Given the description of an element on the screen output the (x, y) to click on. 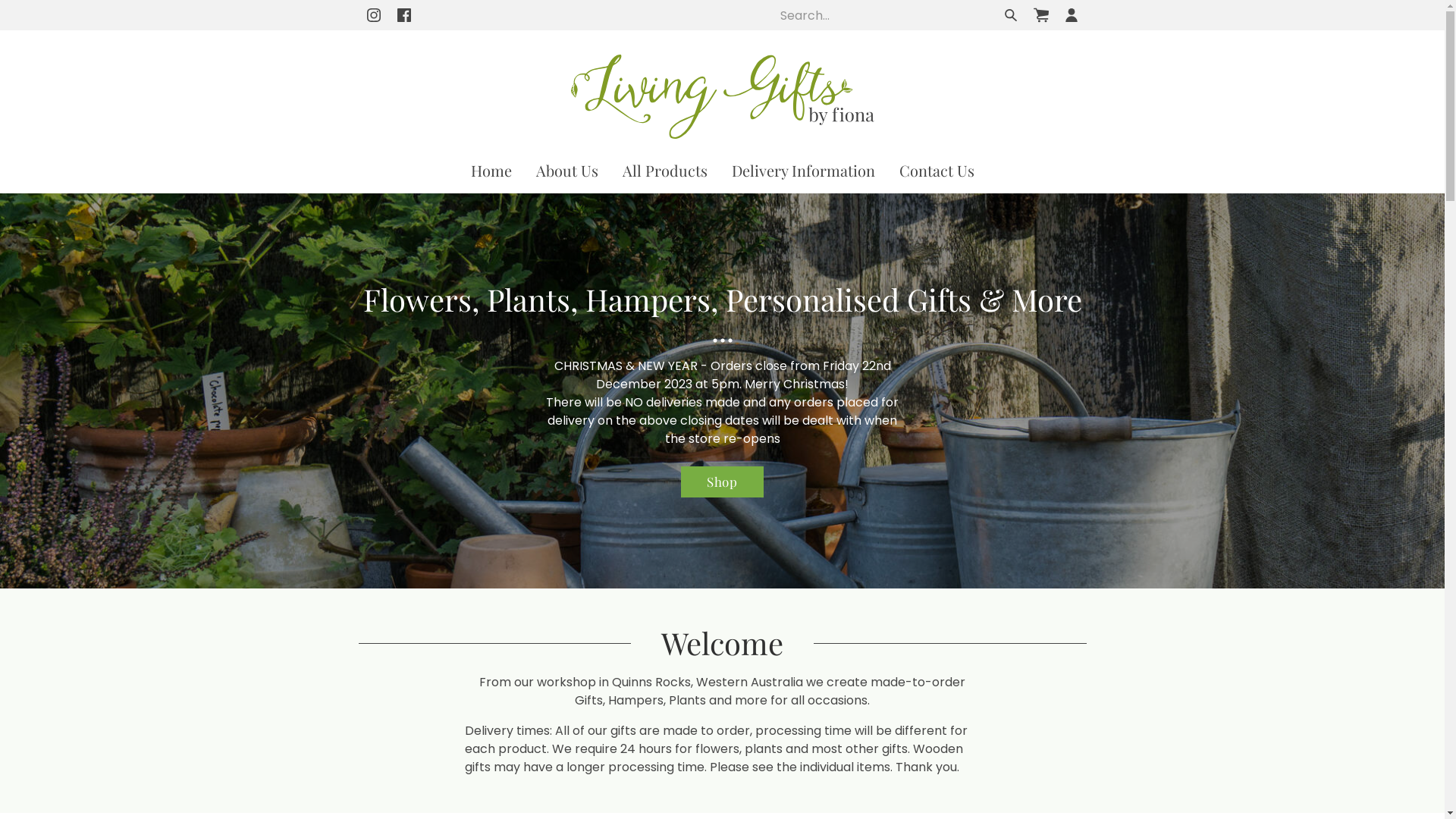
Home Element type: text (490, 172)
Delivery Information Element type: text (802, 172)
About Us Element type: text (566, 172)
Contact Us Element type: text (936, 172)
All Products Element type: text (663, 172)
Search Element type: hover (1009, 15)
My Account Element type: hover (1070, 15)
Shop Element type: text (721, 481)
View cart (0 items) Element type: hover (1040, 15)
